Given the description of an element on the screen output the (x, y) to click on. 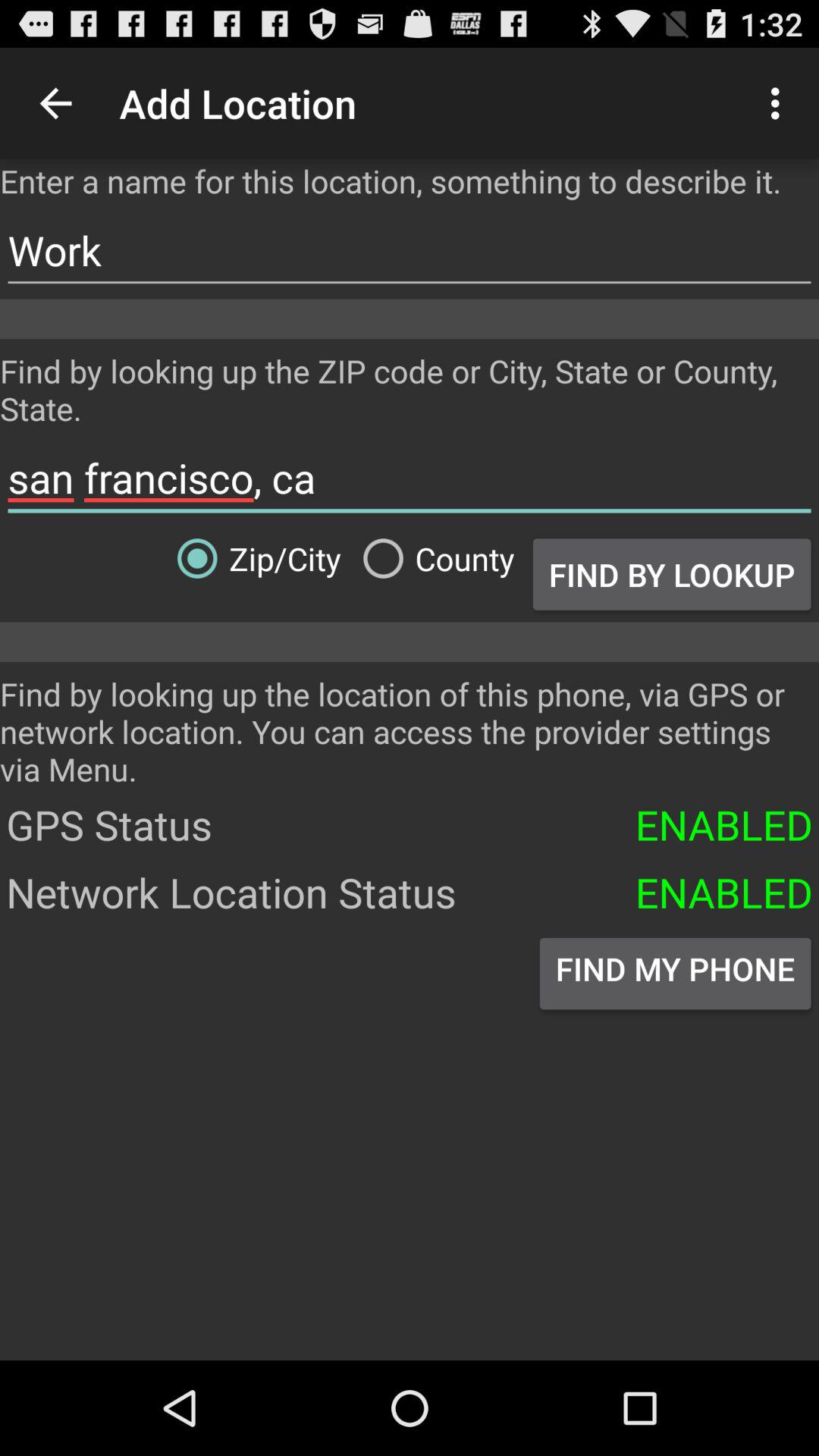
tap the item above the find by lookup icon (409, 477)
